Given the description of an element on the screen output the (x, y) to click on. 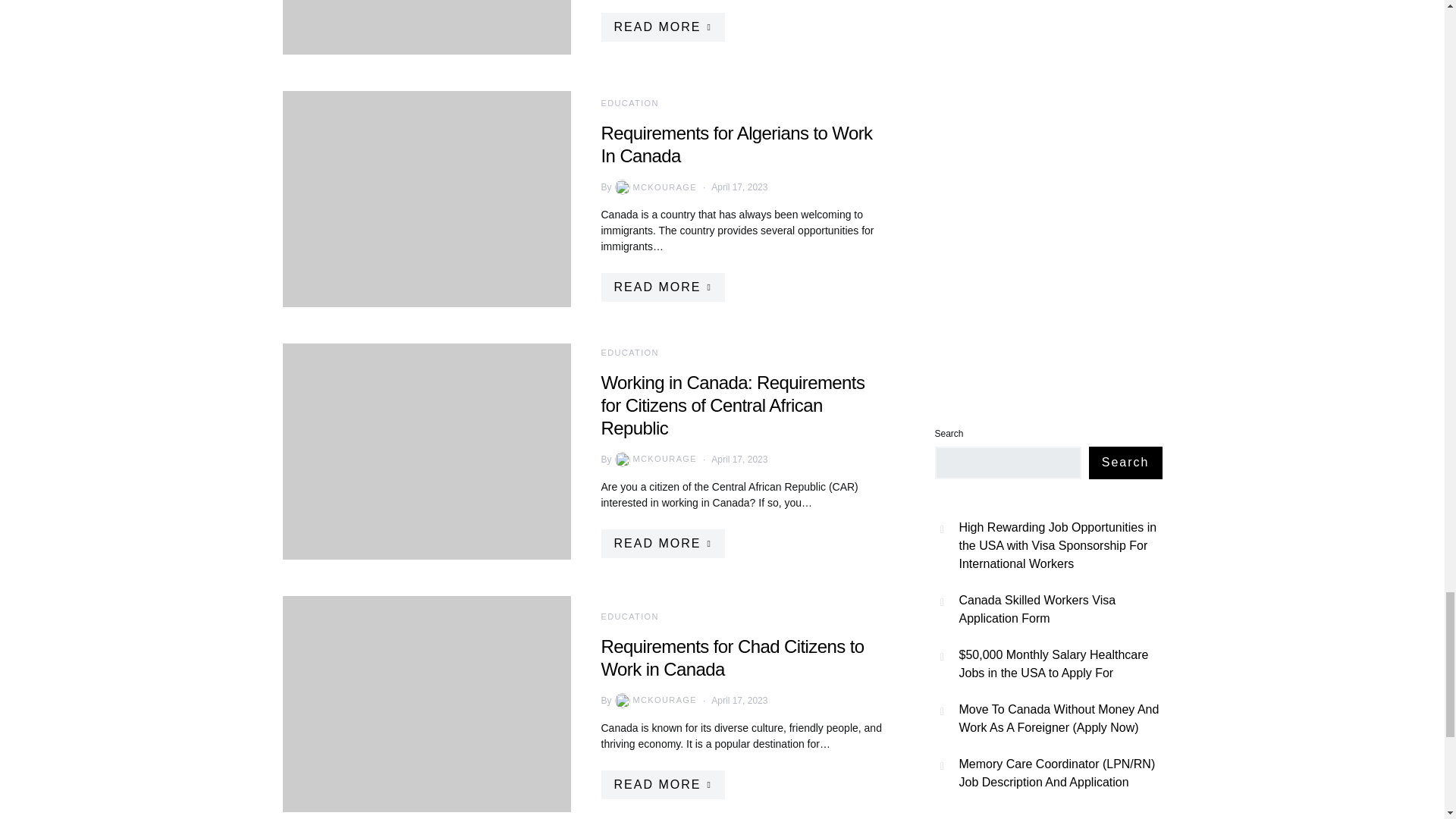
READ MORE (661, 26)
Requirements for Algerians to Work In Canada (735, 144)
View all posts by Mckourage (654, 186)
View all posts by Mckourage (654, 700)
View all posts by Mckourage (654, 459)
READ MORE (661, 287)
MCKOURAGE (654, 186)
EDUCATION (628, 102)
